Given the description of an element on the screen output the (x, y) to click on. 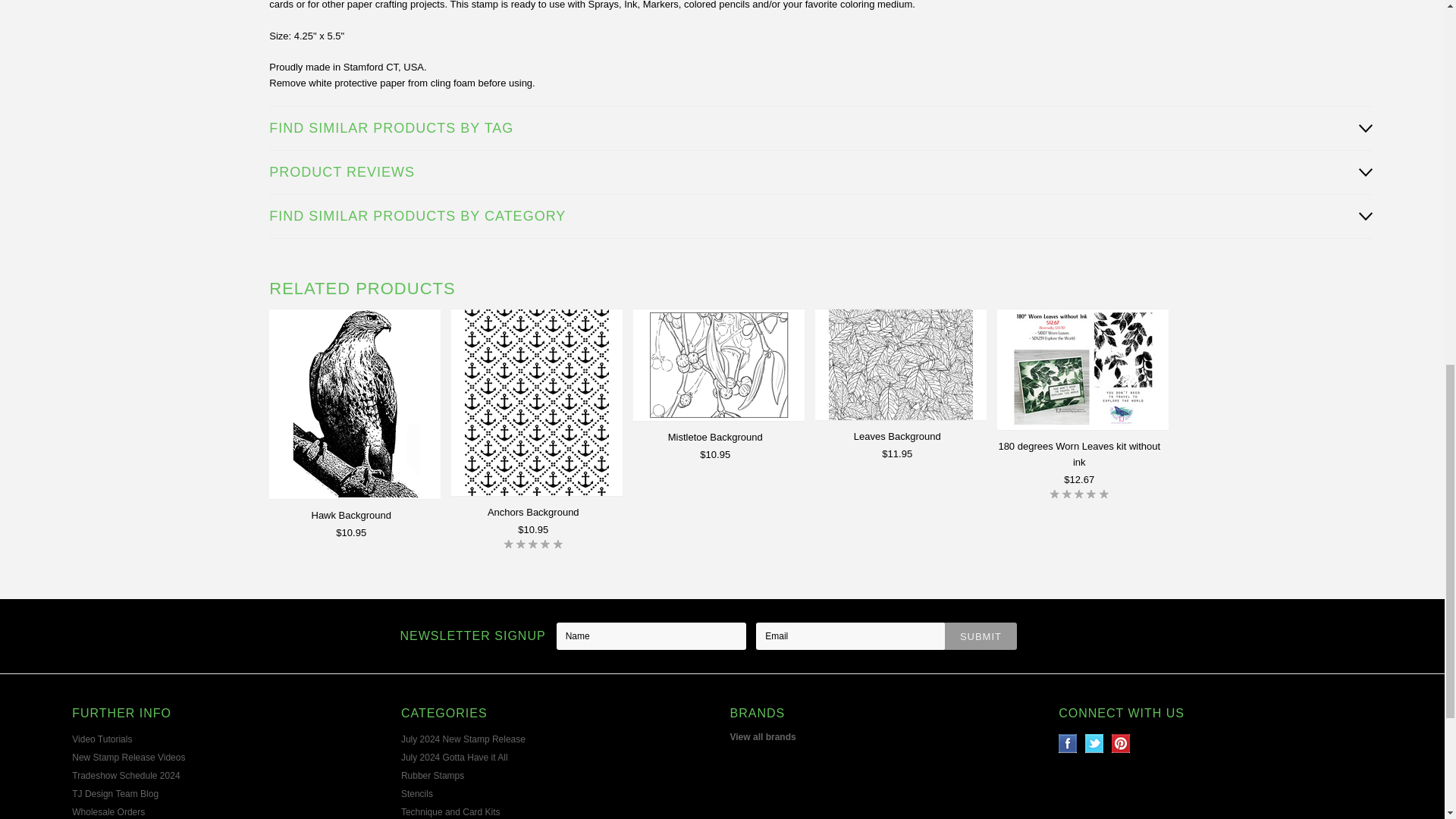
Submit (980, 636)
Name (650, 636)
Email (849, 636)
